Given the description of an element on the screen output the (x, y) to click on. 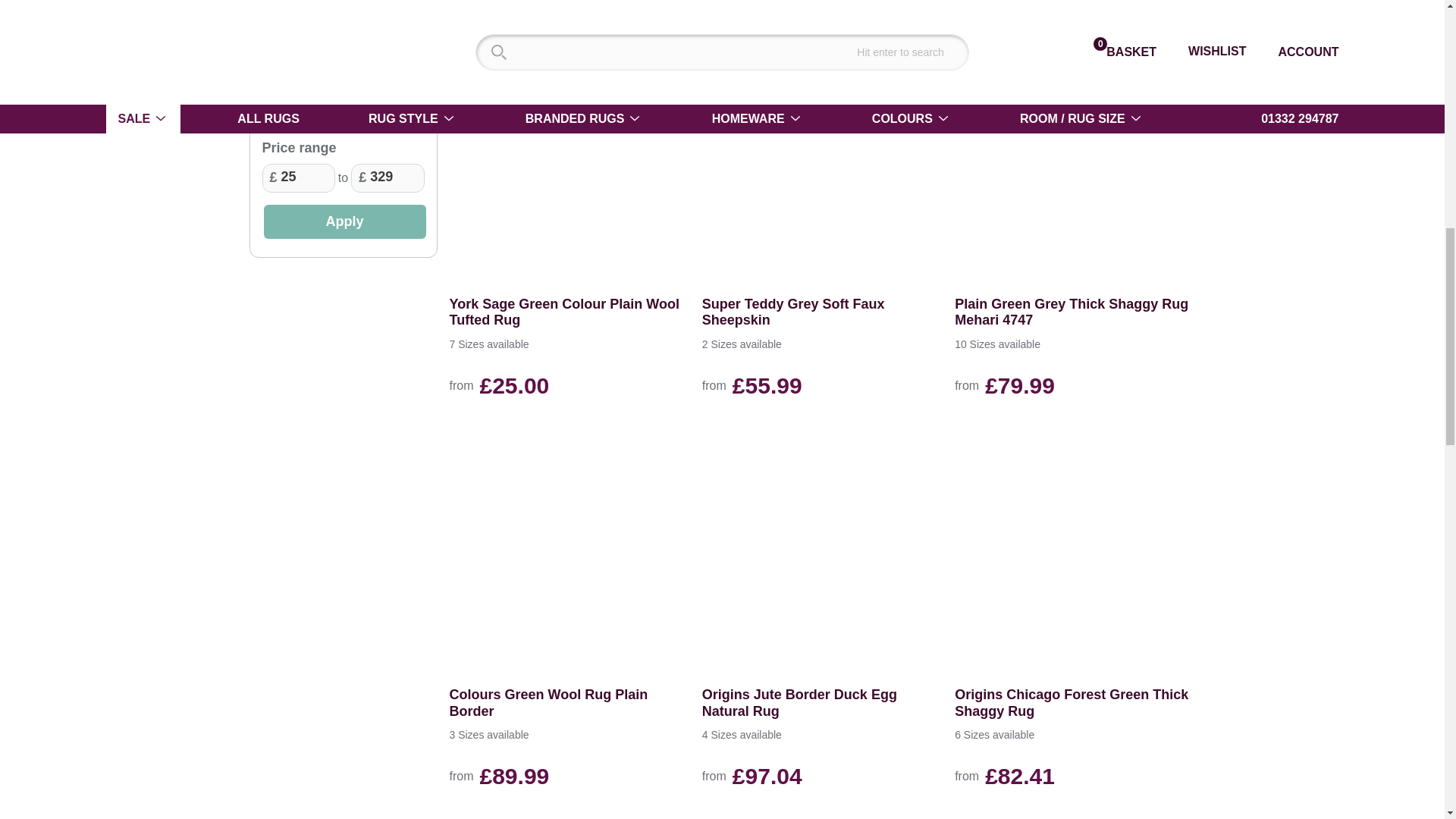
25 (298, 177)
329 (386, 177)
